Given the description of an element on the screen output the (x, y) to click on. 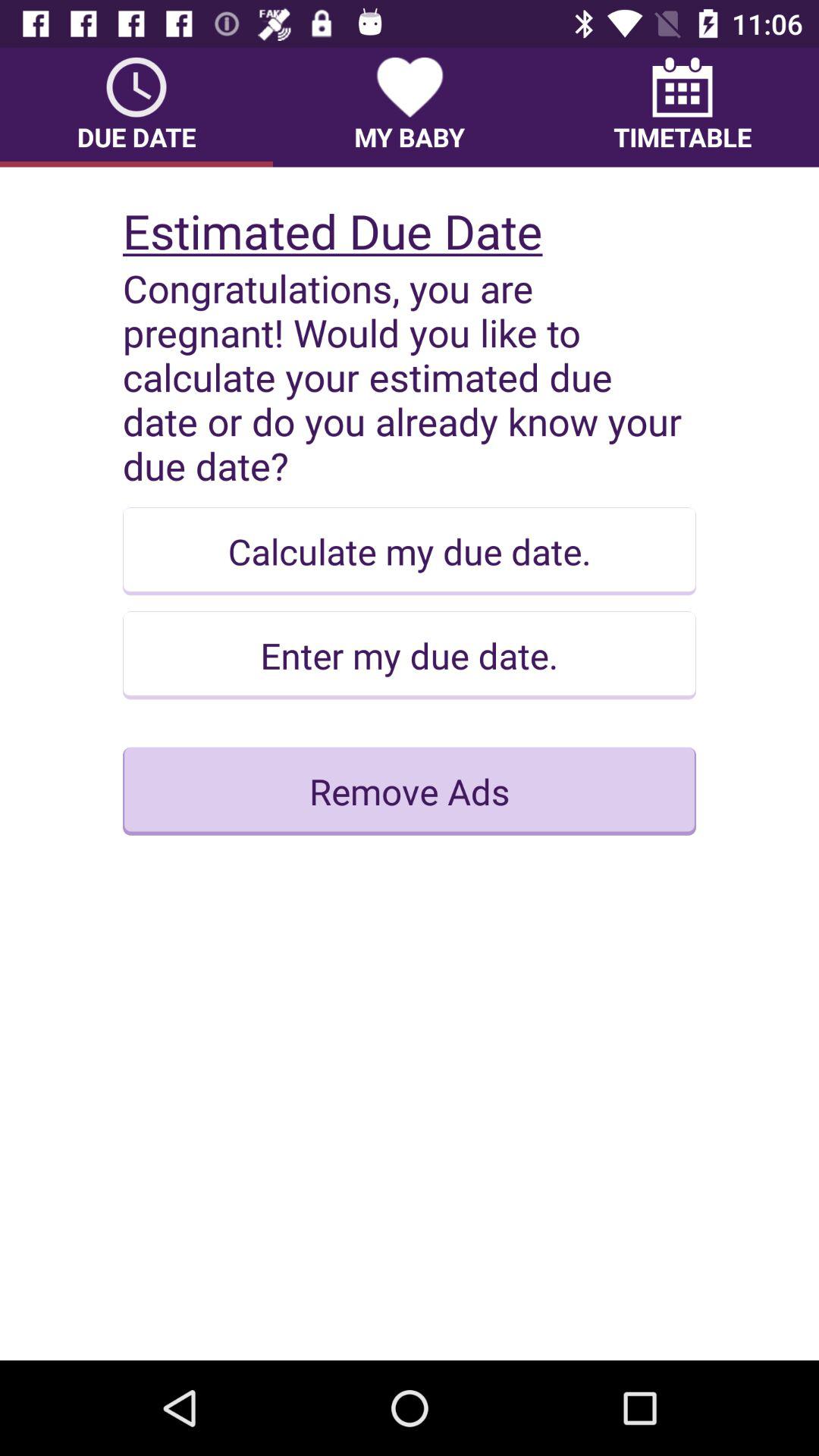
tap remove ads (409, 791)
